Given the description of an element on the screen output the (x, y) to click on. 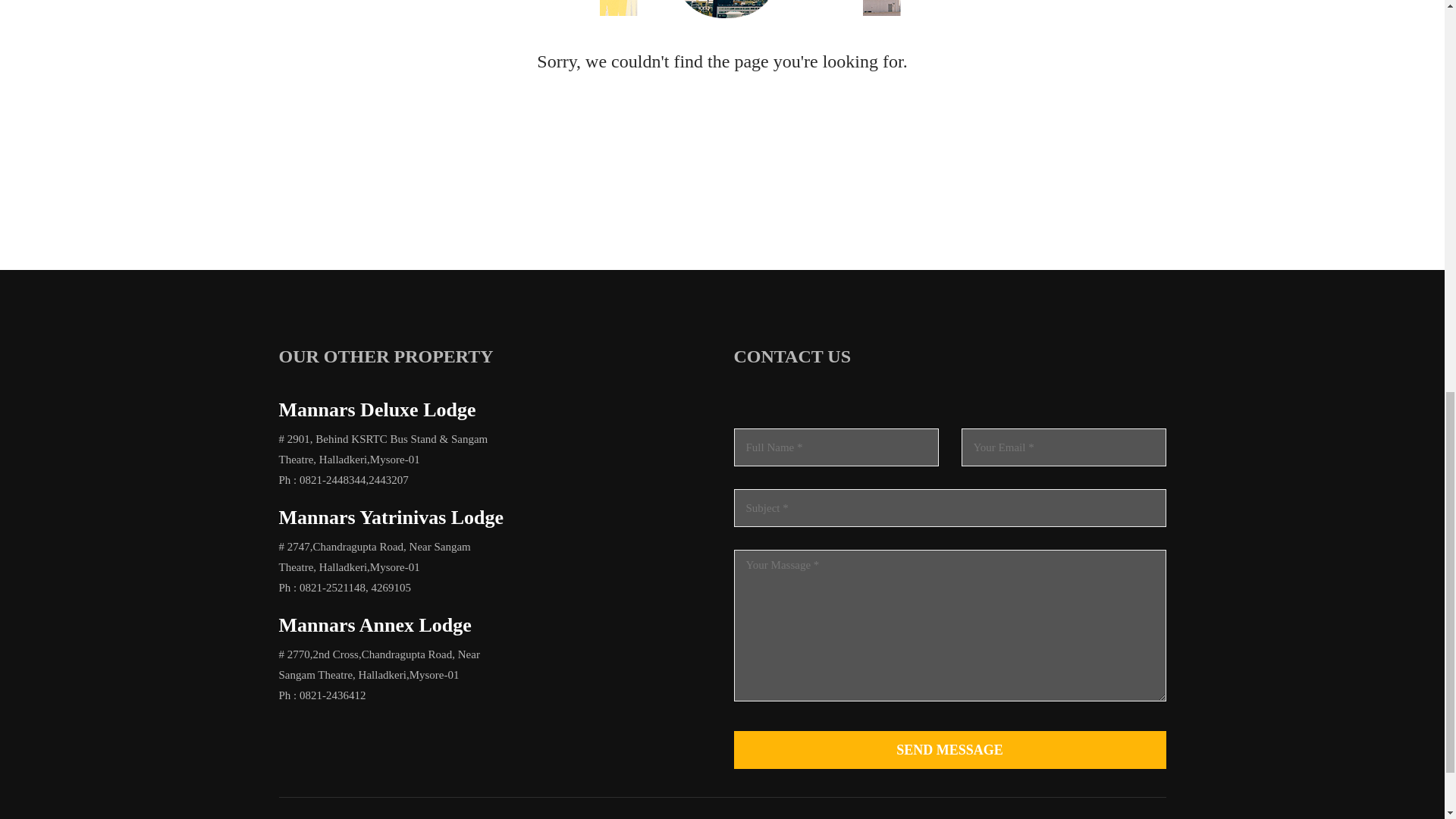
Mannars Yatrinivas Lodge (391, 517)
Mannars Deluxe Lodge (377, 409)
Send Message (949, 750)
Mannars Annex Lodge (375, 625)
Send Message (949, 750)
